Given the description of an element on the screen output the (x, y) to click on. 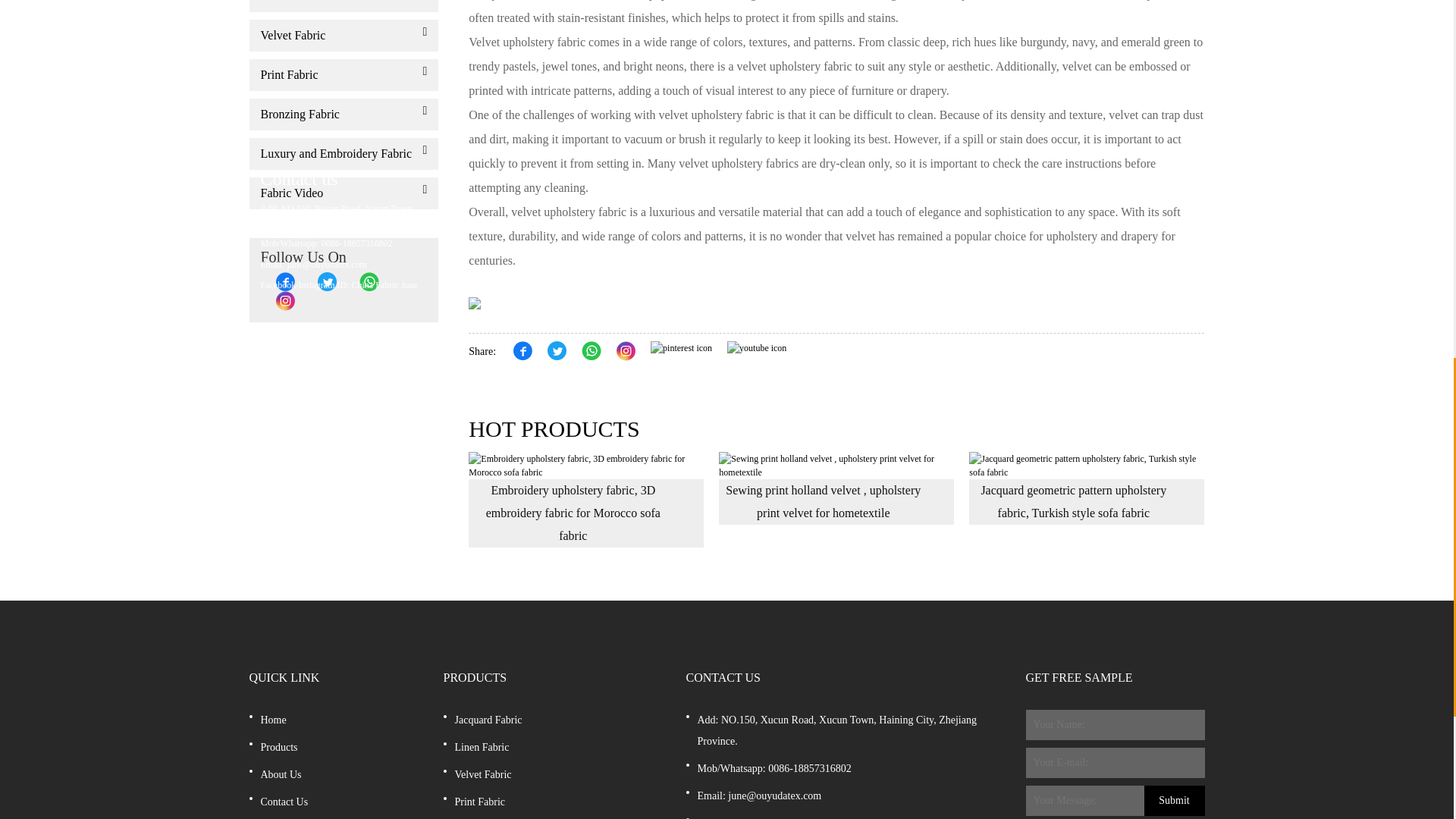
Submit (1173, 800)
